Given the description of an element on the screen output the (x, y) to click on. 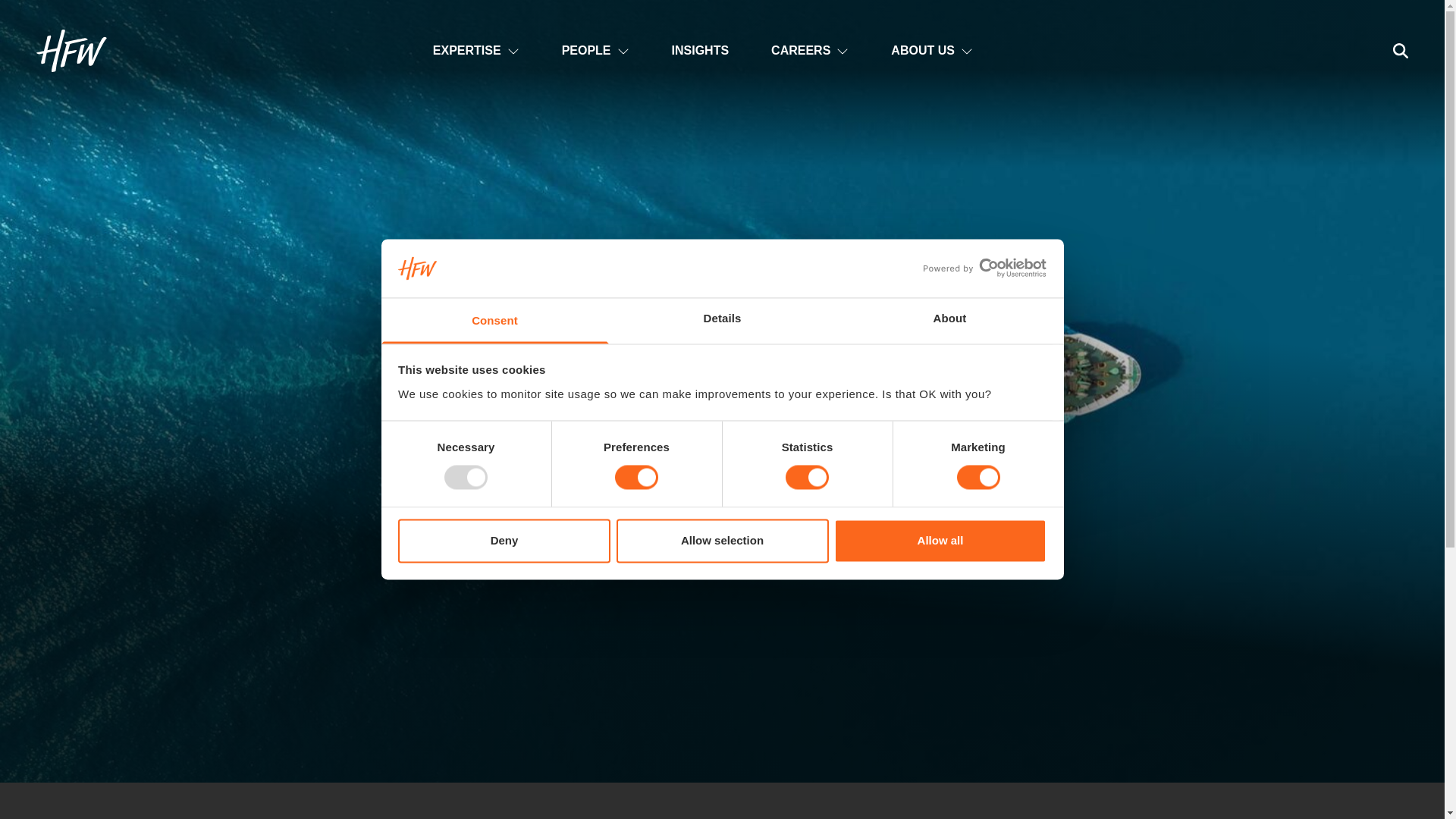
Deny (503, 540)
Consent (494, 320)
Allow selection (721, 540)
Details (721, 320)
About (948, 320)
Allow all (940, 540)
